Given the description of an element on the screen output the (x, y) to click on. 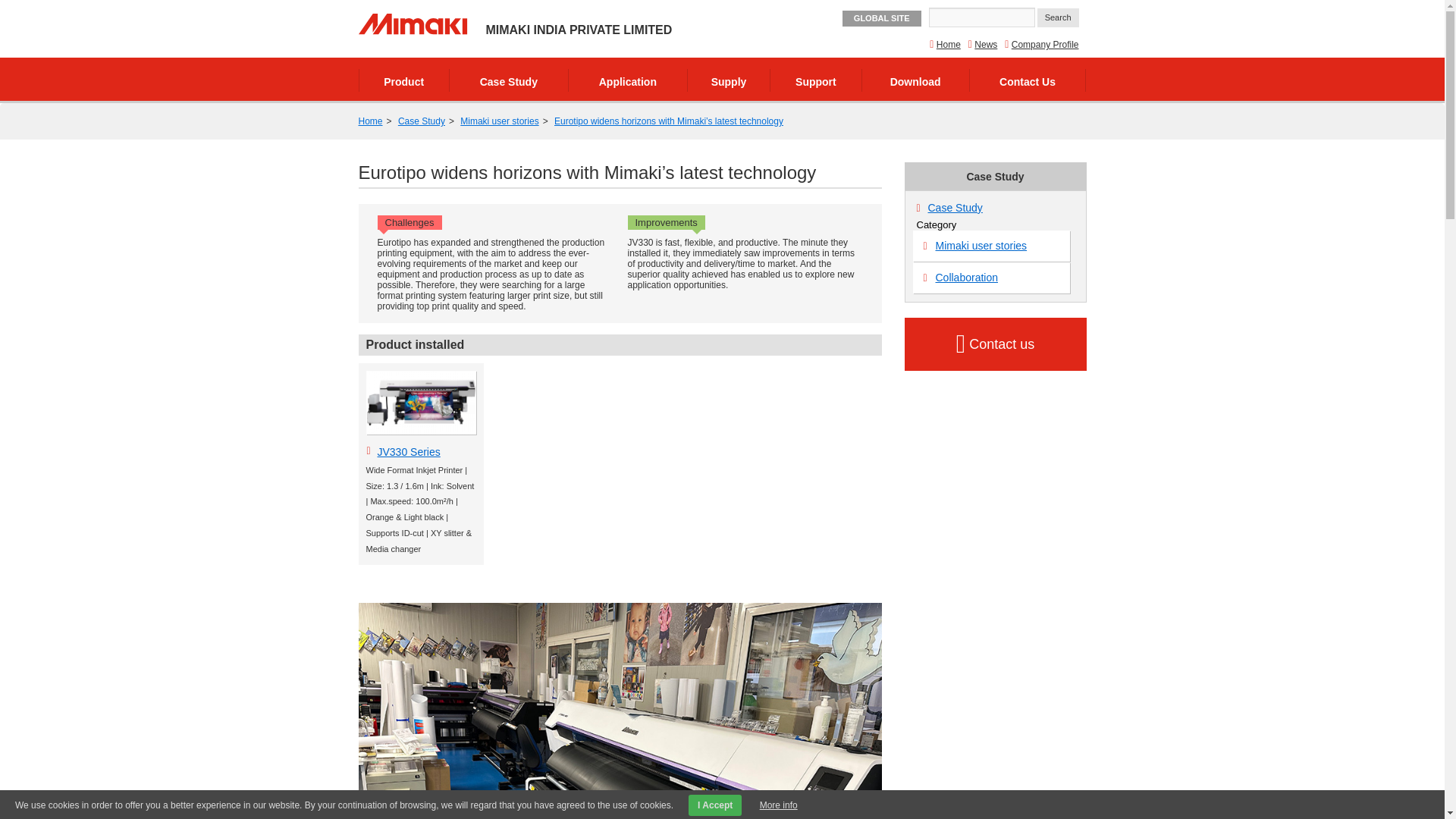
Mimaki user stories (991, 245)
Home (369, 121)
GLOBAL SITE (882, 18)
Product (403, 79)
Mimaki user stories (499, 121)
Contact Us (1027, 79)
Search (1057, 17)
Company Profile (1044, 44)
Download (914, 79)
Case Study (955, 207)
Search (1057, 17)
Contact us (995, 344)
Supply (728, 79)
Home (948, 44)
News (985, 44)
